Given the description of an element on the screen output the (x, y) to click on. 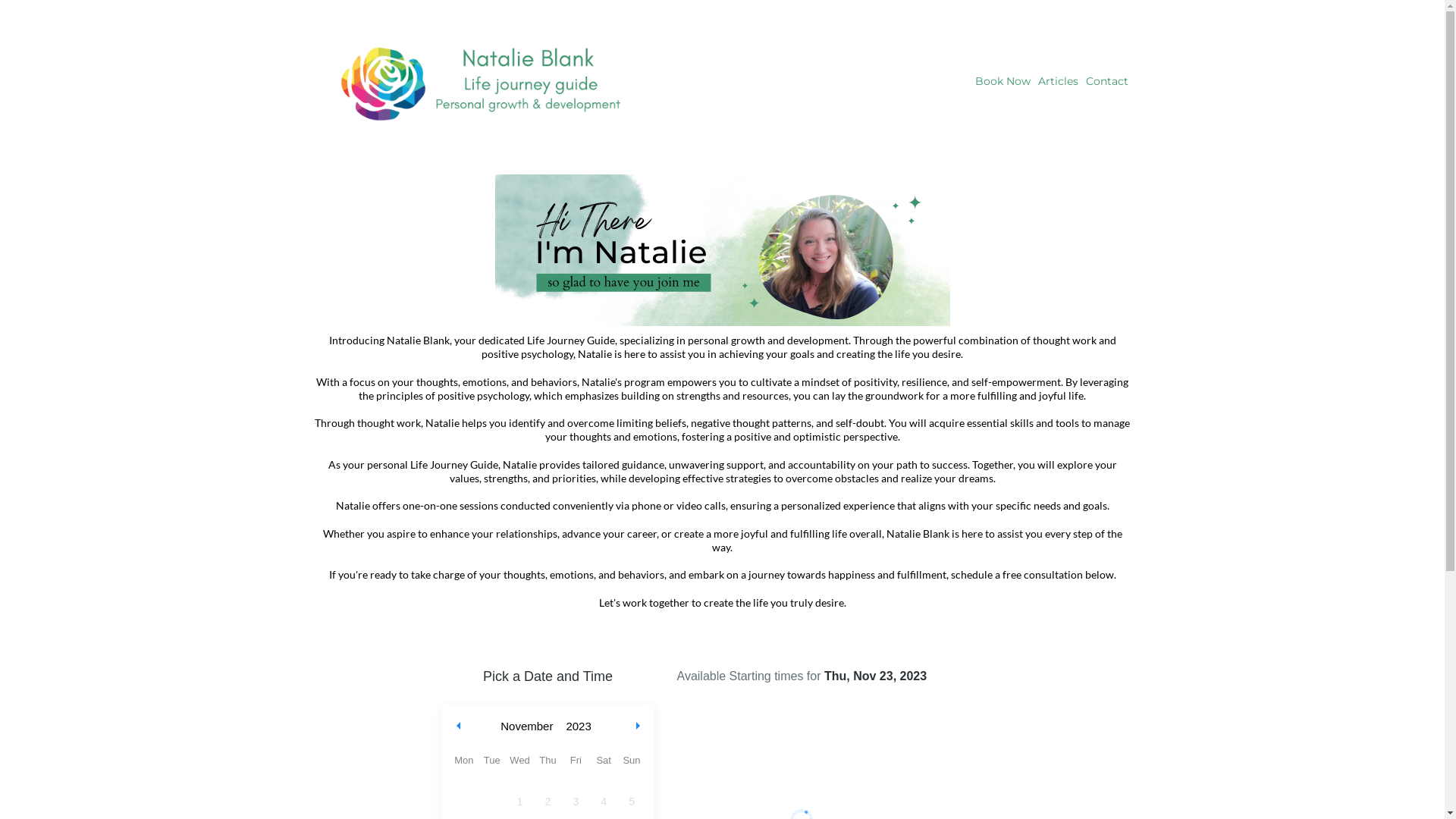
Next month Element type: text (639, 725)
Articles Element type: text (1058, 81)
Contact Element type: text (1106, 81)
Previous month Element type: text (458, 725)
November Element type: text (526, 725)
Book Now Element type: text (1001, 81)
2023 Element type: text (578, 725)
